Given the description of an element on the screen output the (x, y) to click on. 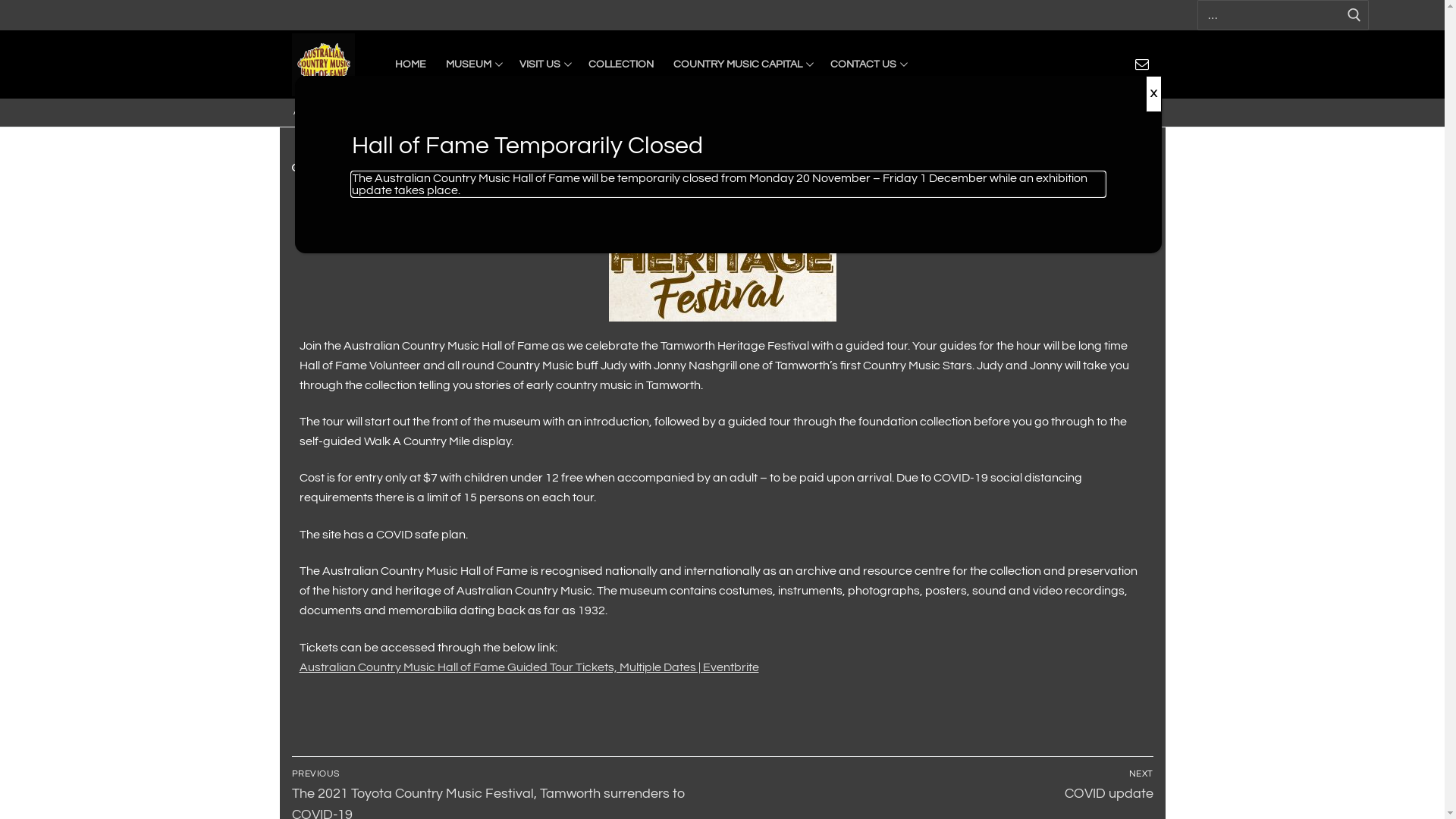
0 COMMENTS Element type: text (411, 167)
X Element type: text (1153, 93)
AUSTRALIAN COUNTRY MUSIC HALL OF FAME Element type: text (398, 111)
LATEST-NEWS Element type: text (556, 111)
MUSEUM
  Element type: text (471, 64)
HOME Element type: text (410, 64)
COUNTRY MUSIC CAPITAL
  Element type: text (740, 64)
Search for: Element type: hover (1283, 14)
CONTACT US
  Element type: text (867, 64)
Mail Element type: hover (1141, 64)
7 APRIL 2021 Element type: text (326, 167)
COLLECTION Element type: text (619, 64)
VISIT US
  Element type: text (543, 64)
NEXT
COVID update Element type: text (942, 784)
